Given the description of an element on the screen output the (x, y) to click on. 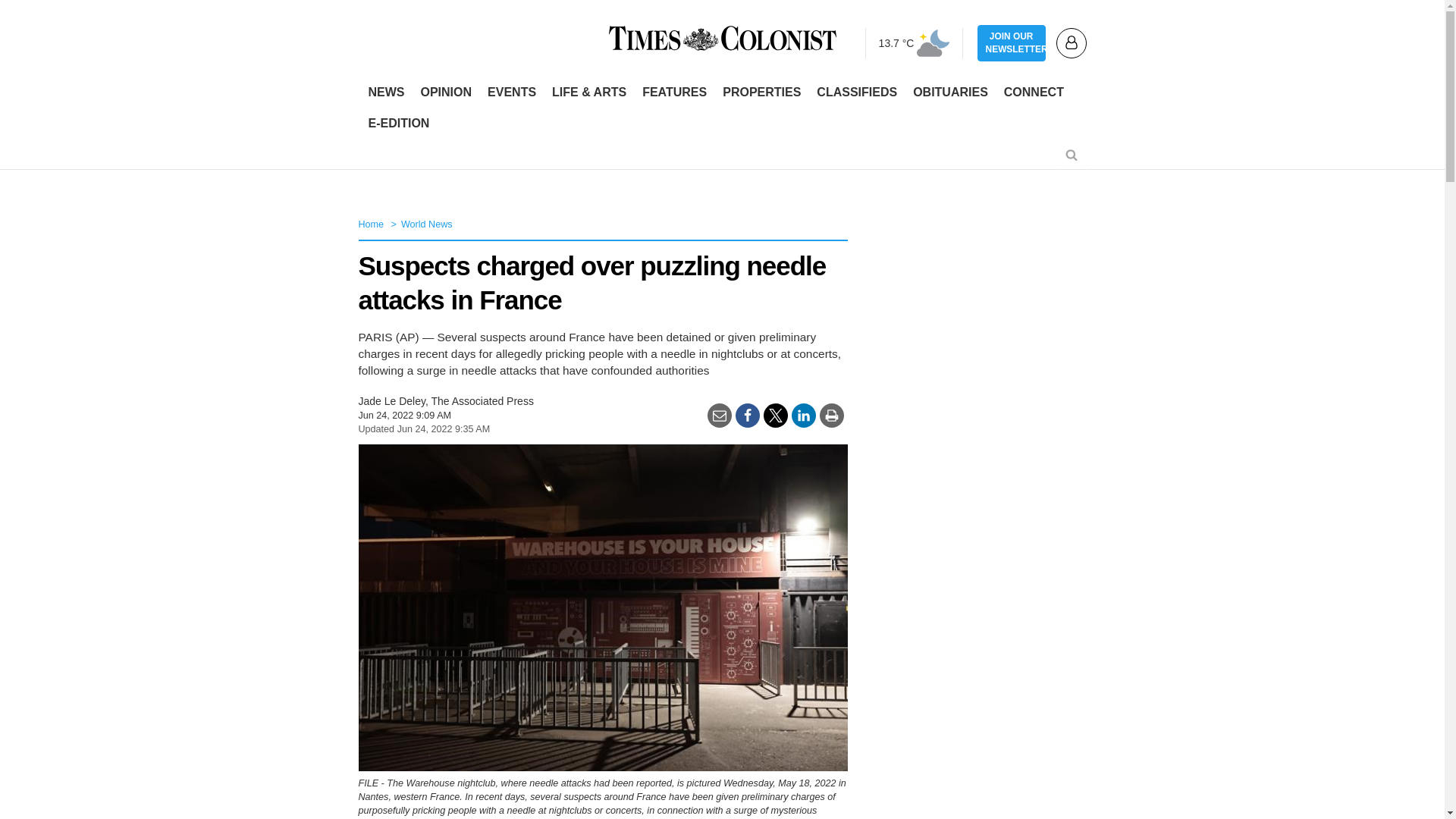
EVENTS (511, 92)
NEWS (386, 92)
OPINION (445, 92)
JOIN OUR NEWSLETTER (1010, 43)
